Given the description of an element on the screen output the (x, y) to click on. 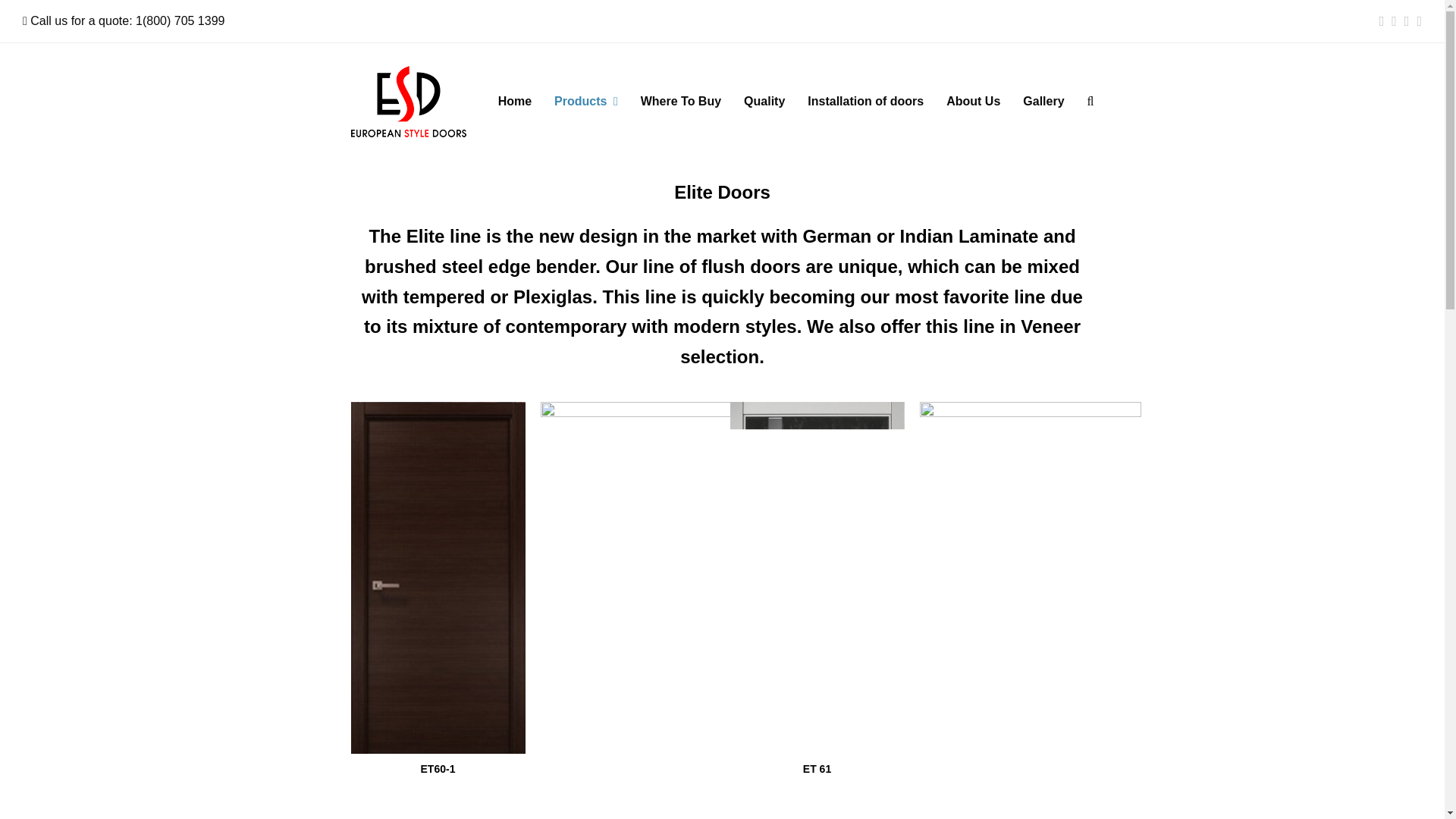
Quality (764, 101)
Installation of doors (865, 101)
Products (585, 101)
About Us (972, 101)
Home (514, 101)
Gallery (1043, 101)
Where To Buy (680, 101)
